Given the description of an element on the screen output the (x, y) to click on. 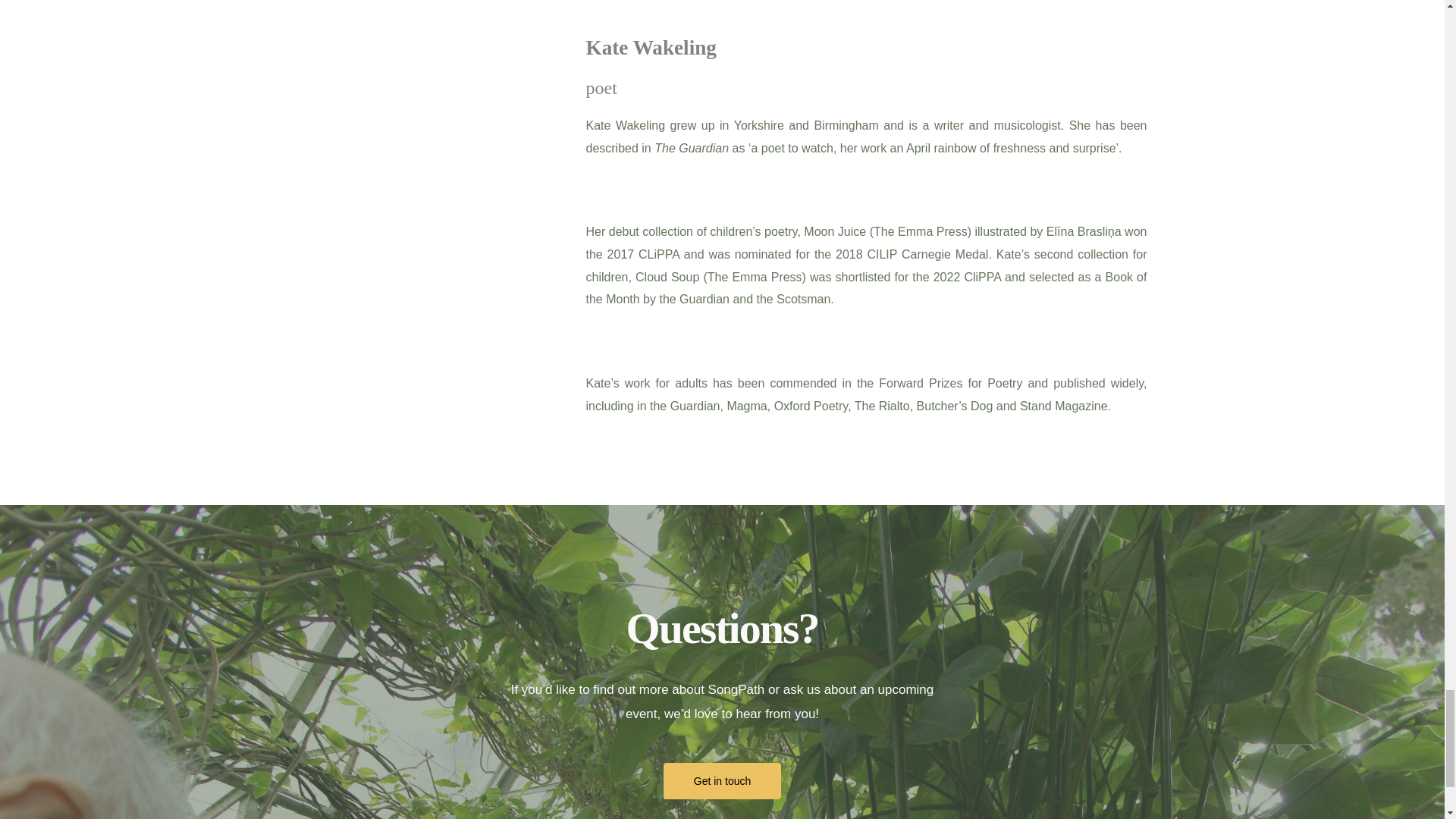
Get in touch (722, 780)
